Given the description of an element on the screen output the (x, y) to click on. 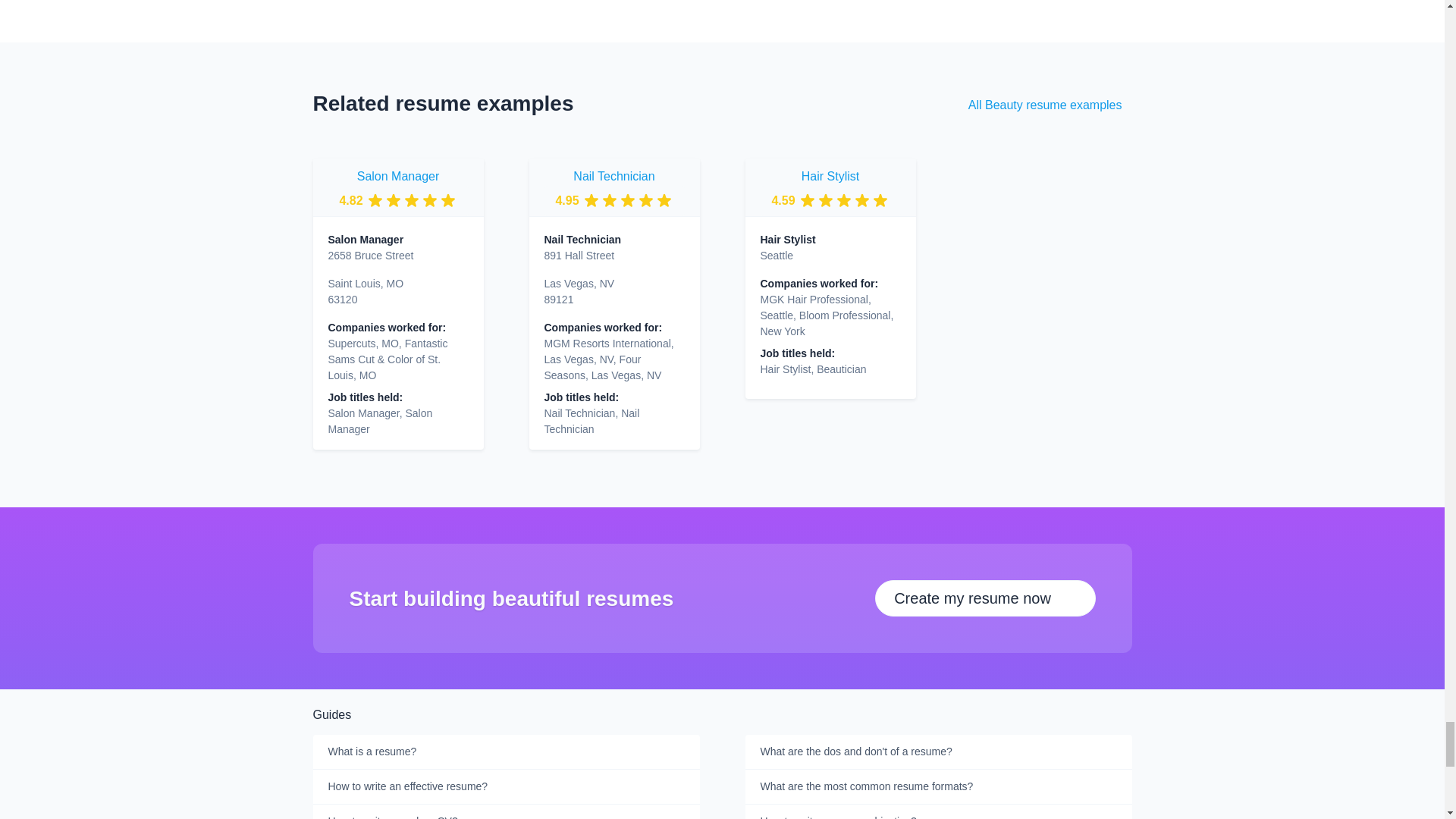
What are the most common resume formats? (937, 786)
How to write a modern CV? (505, 811)
What are the dos and don't of a resume? (937, 751)
What is a resume? (505, 751)
All Beauty resume examples (1045, 104)
How to write an effective resume? (505, 786)
Create my resume now (984, 597)
